Given the description of an element on the screen output the (x, y) to click on. 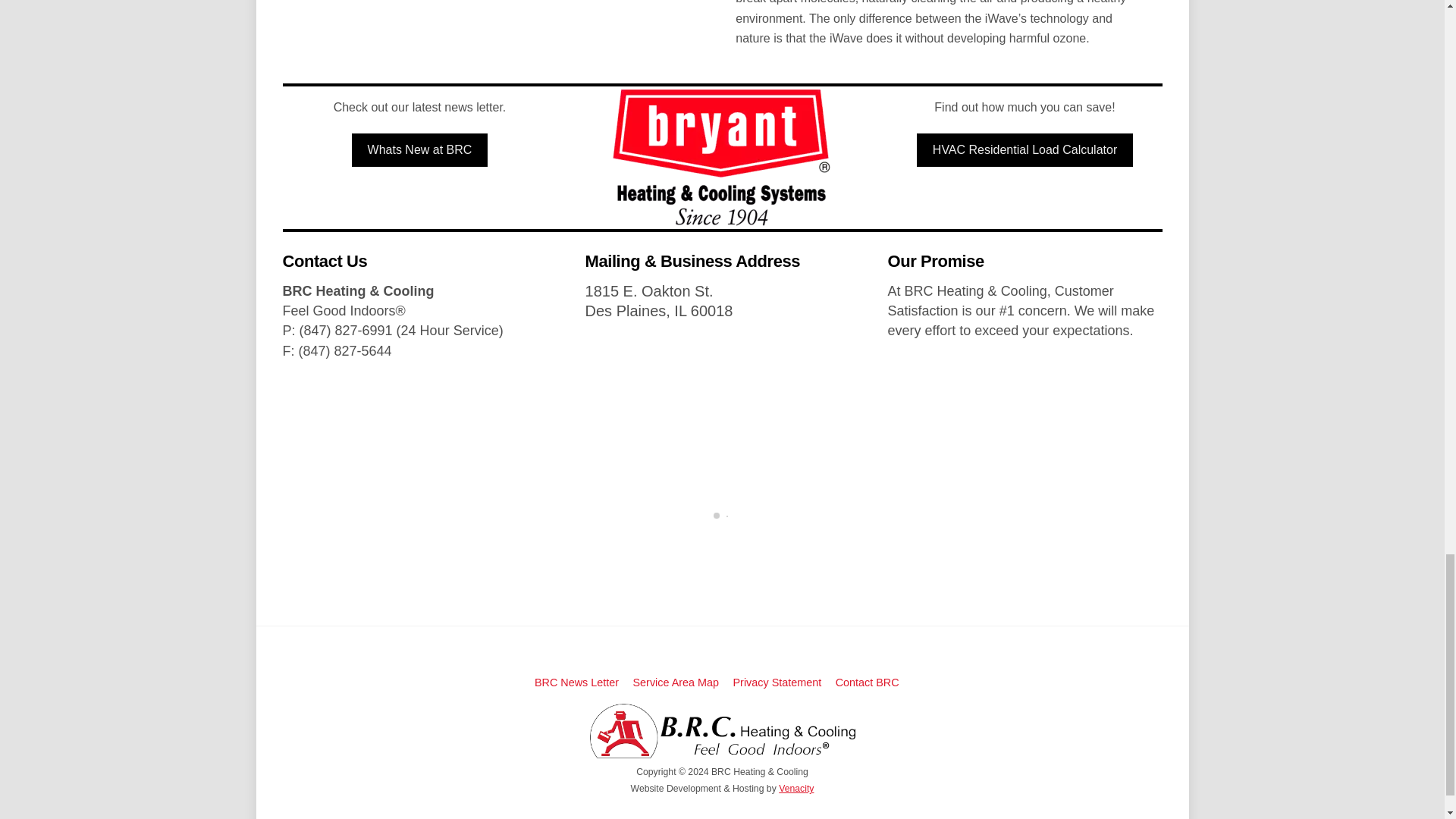
Whats New at BRC (419, 150)
Privacy Statement (776, 682)
BRC News Letter (576, 682)
Contact BRC (867, 682)
HVAC Residential Load Calculator (1024, 150)
Service Area Map (676, 682)
bryant-heating-cooling-logo (721, 157)
Venacity (795, 787)
